Given the description of an element on the screen output the (x, y) to click on. 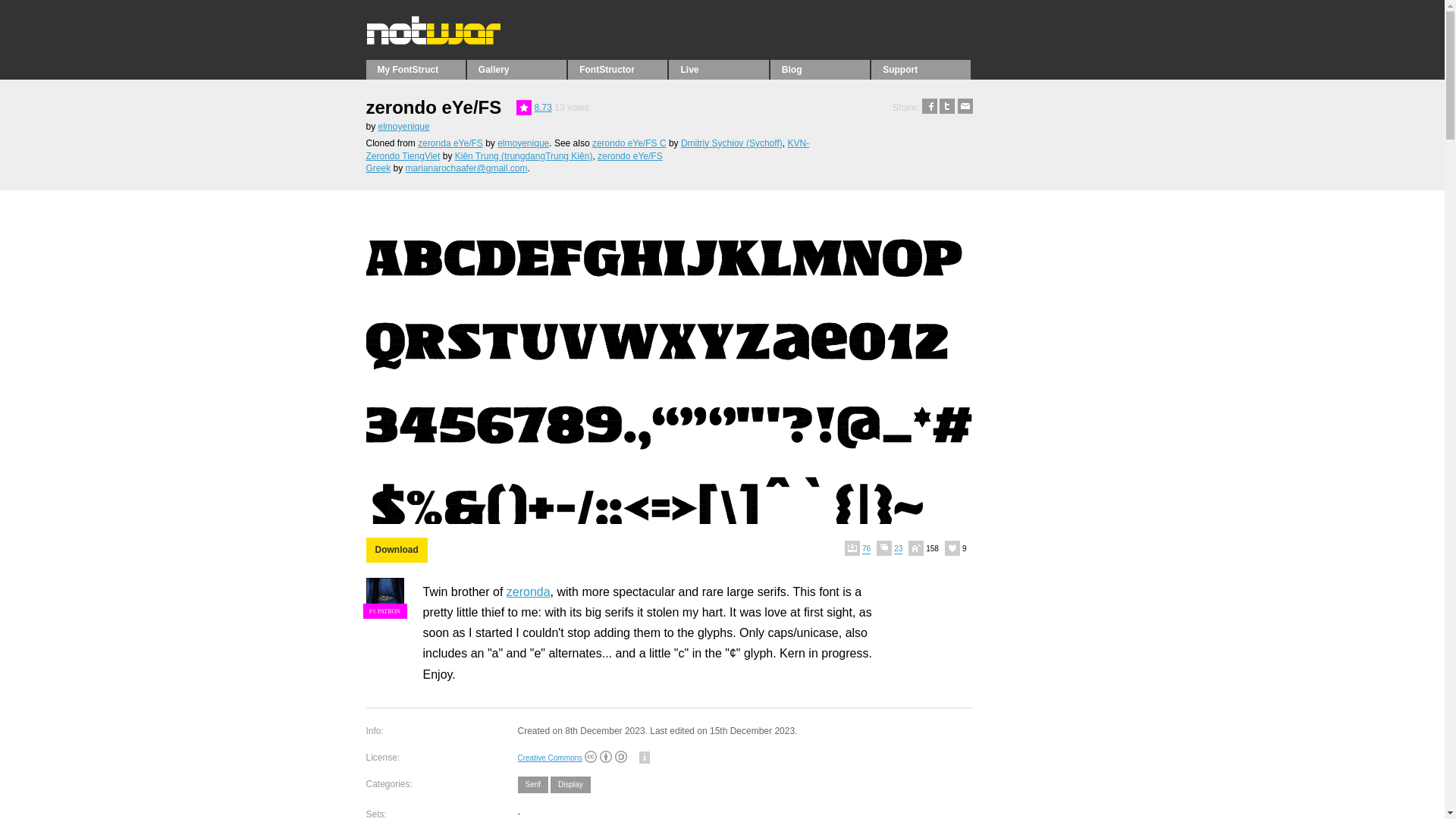
Share Alike (619, 757)
My FontStruct (414, 69)
Share on Twitter (947, 107)
Gallery (516, 69)
elmoyenique (522, 143)
8.73 (542, 107)
Download for desktop use (395, 549)
KVN-Zerondo TiengViet (587, 149)
